Given the description of an element on the screen output the (x, y) to click on. 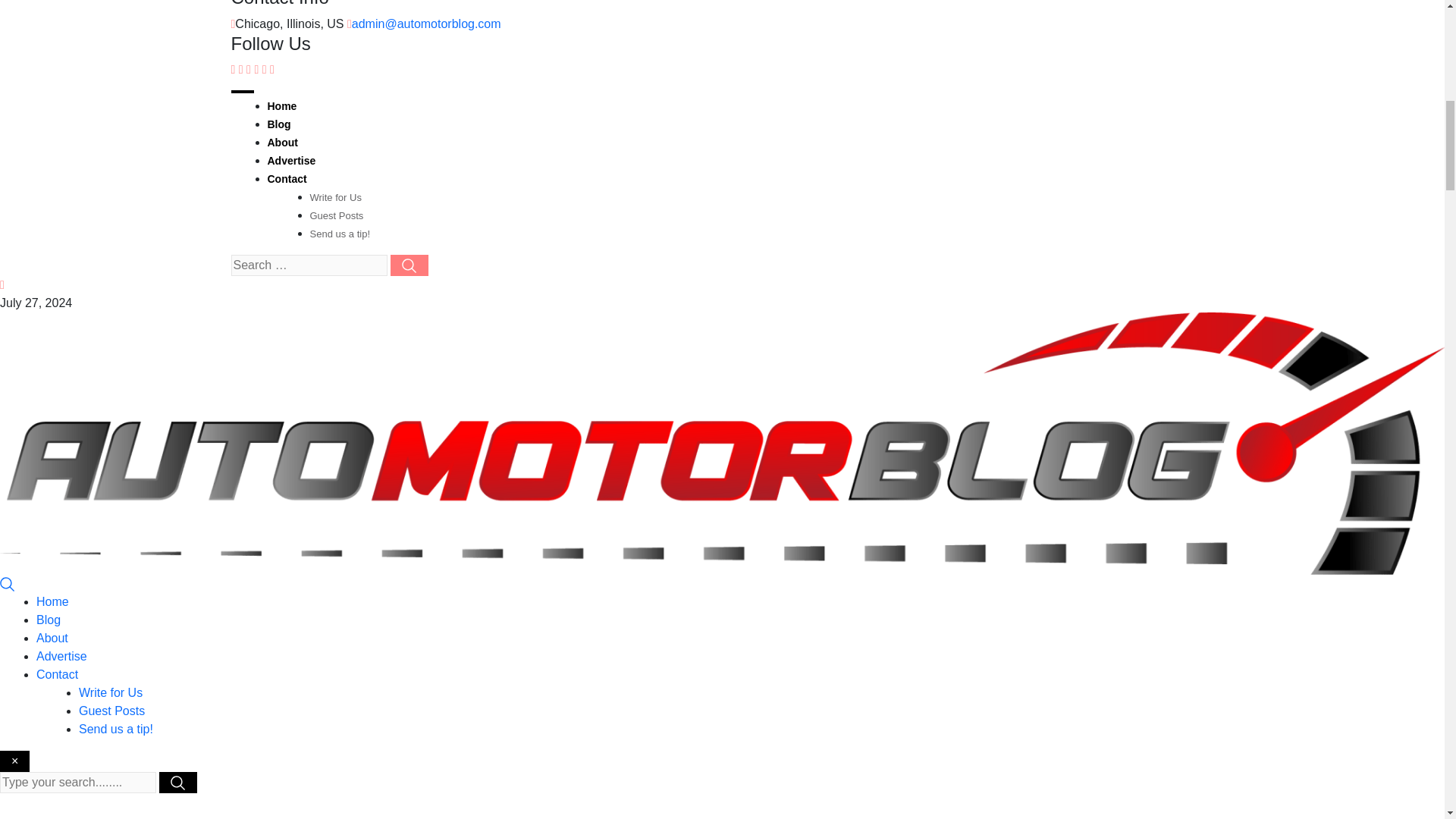
Send us a tip! (338, 233)
Guest Posts (335, 215)
Home (281, 105)
Guest Posts (111, 710)
Blog (48, 619)
Blog (277, 123)
Advertise (61, 656)
About (281, 142)
Home (52, 601)
About (52, 637)
Search (7, 583)
Advertise (290, 160)
Write for Us (110, 692)
